Given the description of an element on the screen output the (x, y) to click on. 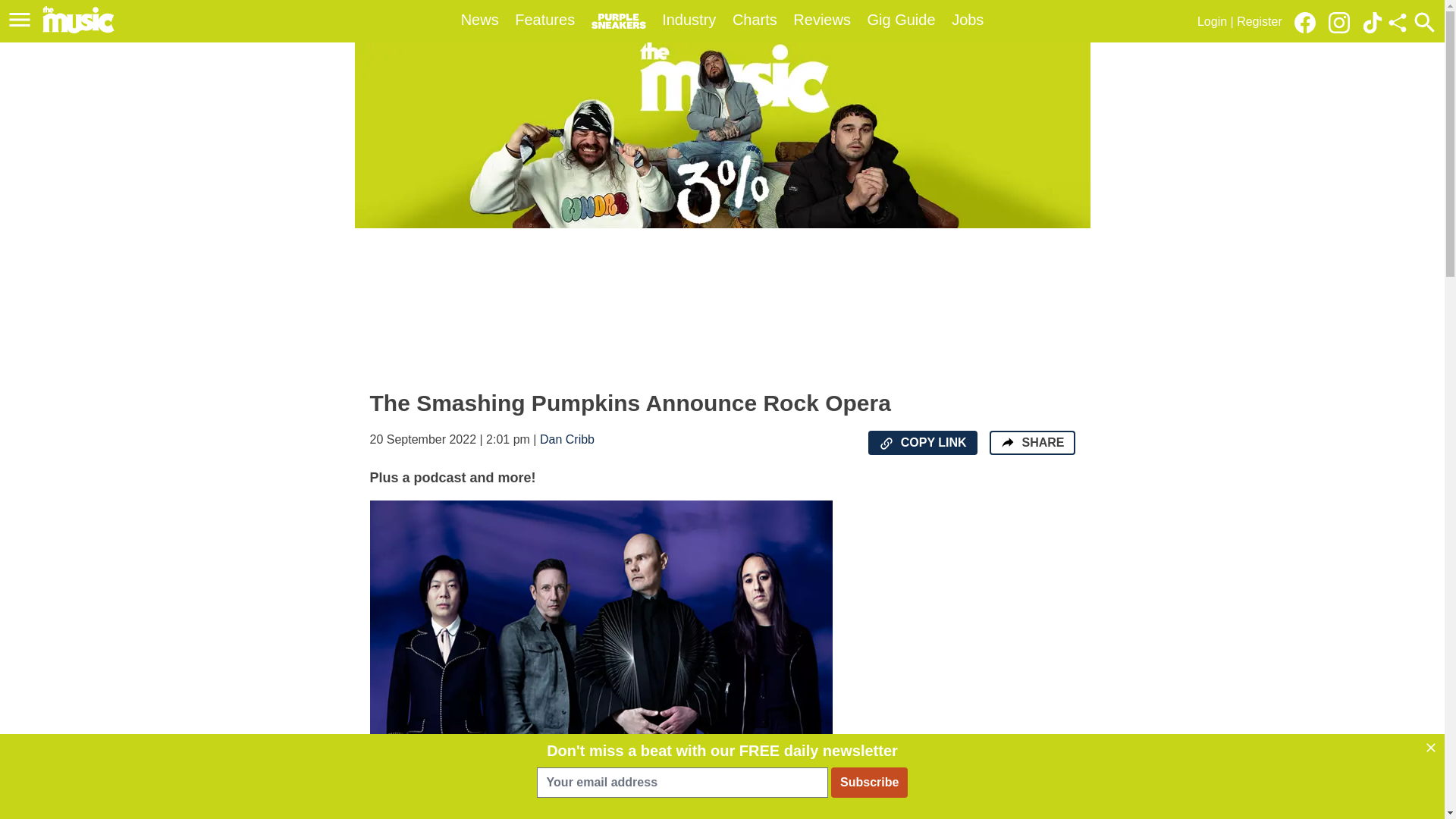
Share the page (1007, 441)
Charts (754, 19)
Link to our Instagram (1342, 21)
Link to our Facebook (1305, 22)
Share this page (1397, 22)
Open the site search menu (1424, 22)
Copy the page URL (886, 443)
Link to our TikTok (1372, 22)
Share this page (1397, 22)
News (480, 19)
